Given the description of an element on the screen output the (x, y) to click on. 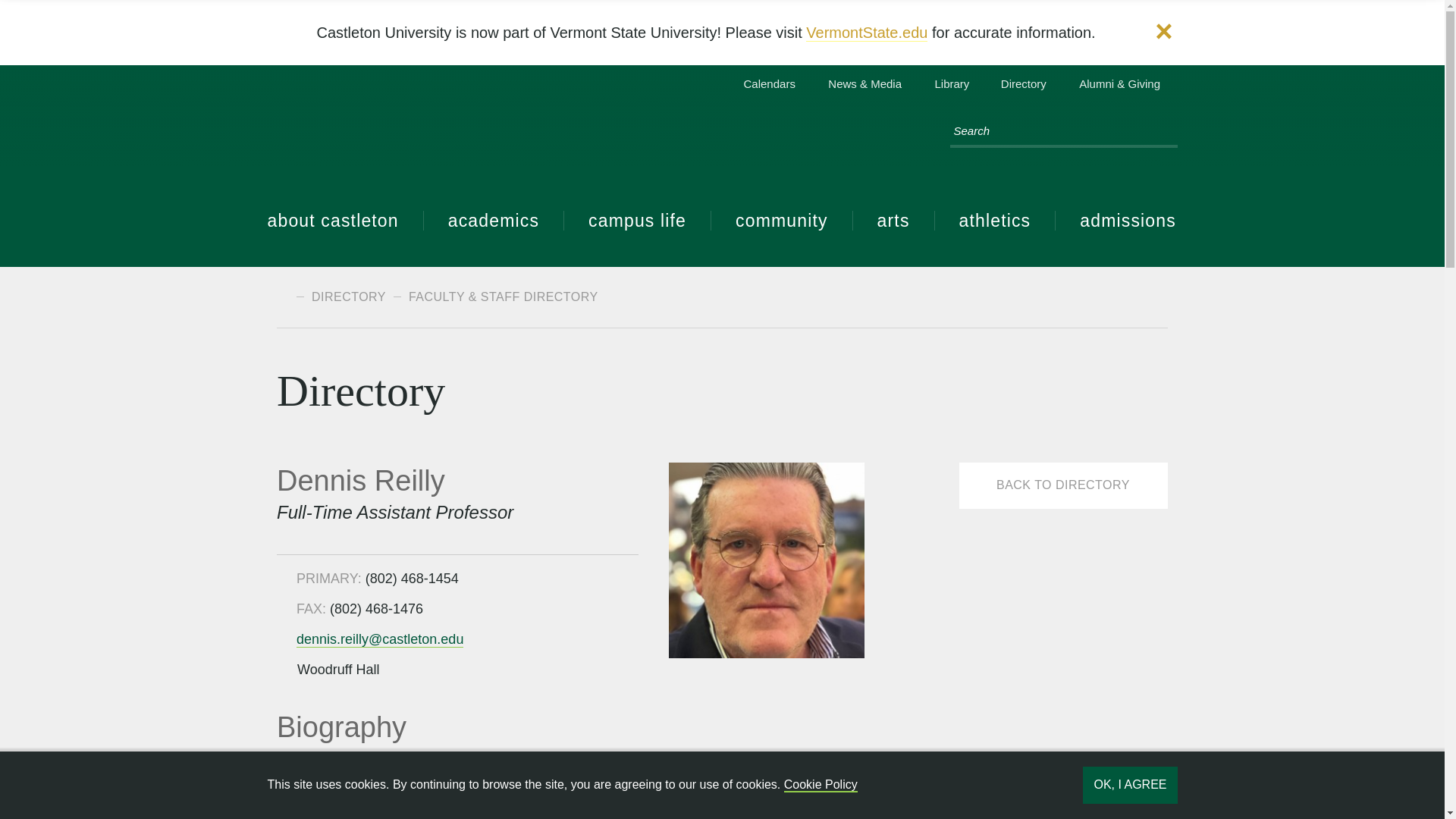
DIRECTORY (336, 297)
athletics (995, 220)
Library (944, 84)
campus life (637, 220)
community (782, 220)
arts (893, 220)
Calendars (761, 84)
Directory (1017, 84)
HOME (282, 295)
academics (493, 220)
BACK TO DIRECTORY (1063, 485)
about castleton (344, 220)
VermontState.edu (866, 32)
admissions (1115, 220)
